Given the description of an element on the screen output the (x, y) to click on. 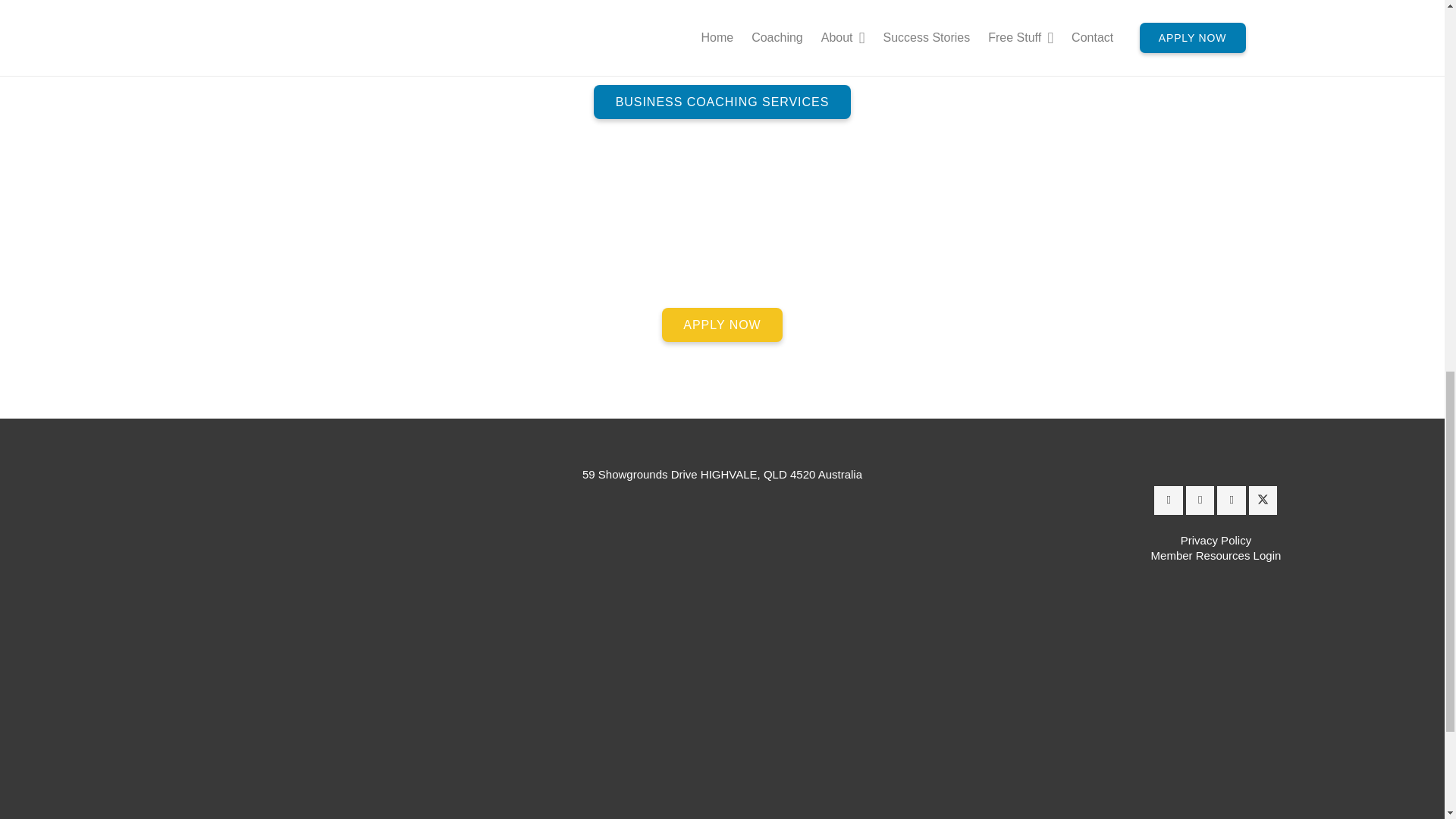
Twitter (1263, 500)
BUSINESS COACHING SERVICES (722, 101)
Member Resources Login (1216, 554)
APPLY NOW (722, 324)
Privacy Policy (1215, 540)
Back to top (30, 26)
59 Showgrounds Drive HIGHVALE, QLD 4520 Australia (721, 473)
YouTube (1231, 500)
LinkedIn (1200, 500)
Facebook (1168, 500)
